Given the description of an element on the screen output the (x, y) to click on. 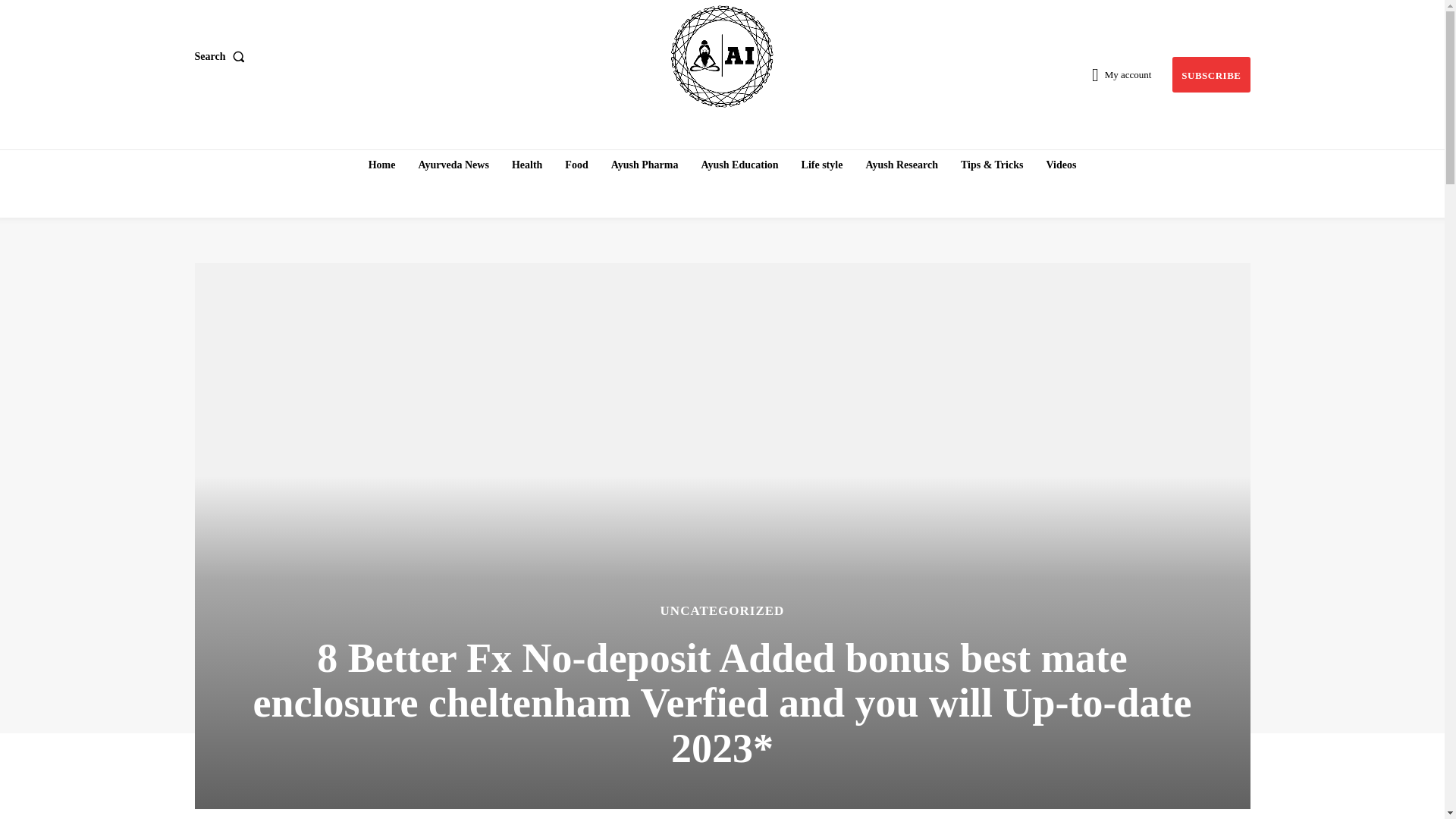
Search (221, 56)
Subscribe (1210, 74)
Life style (821, 164)
Ayush Pharma (644, 164)
SUBSCRIBE (1210, 74)
Ayush Education (739, 164)
Health (526, 164)
Home (382, 164)
Ayush Research (900, 164)
Videos (1060, 164)
